Given the description of an element on the screen output the (x, y) to click on. 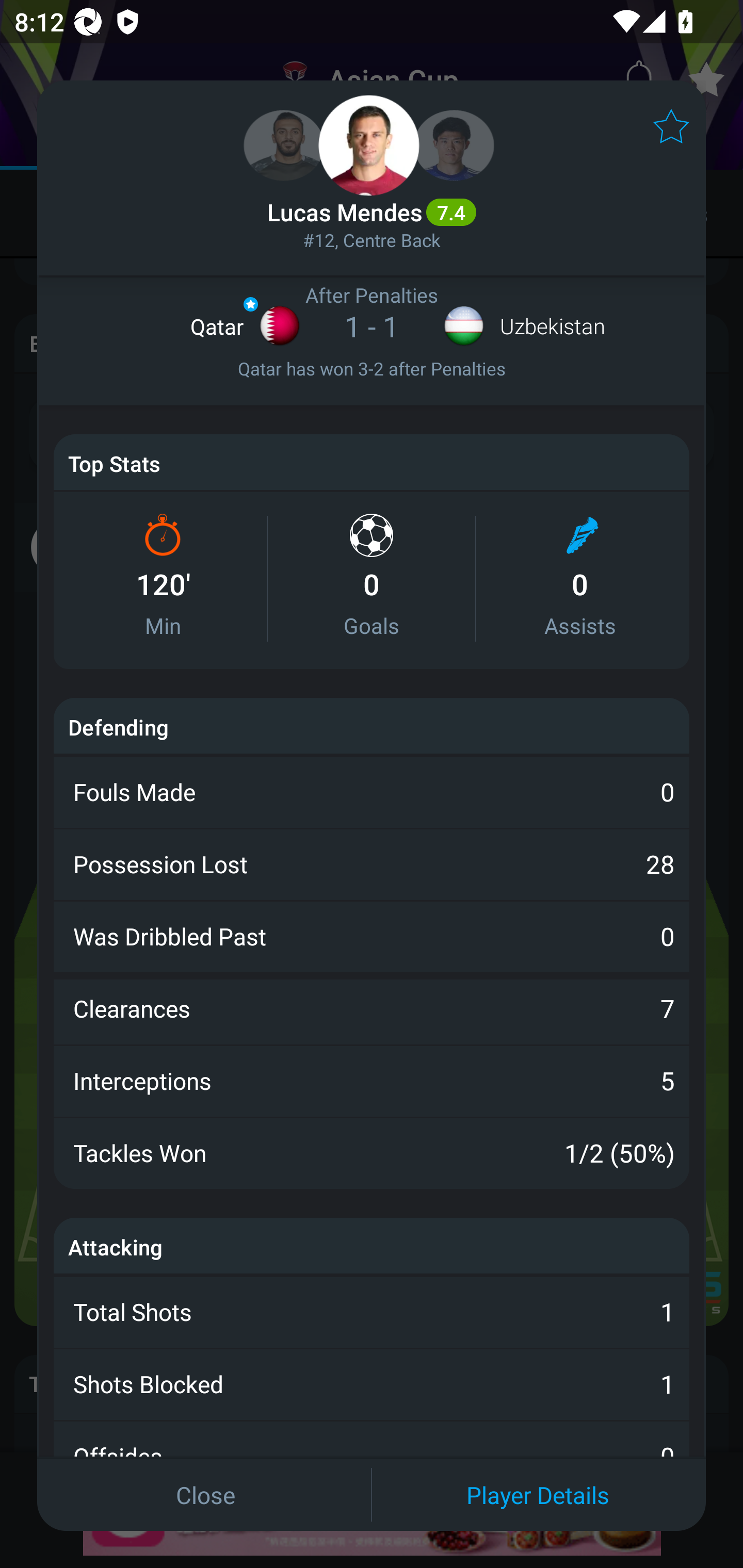
Defending (118, 727)
Attacking (115, 1246)
Close (205, 1494)
Player Details (537, 1494)
